Given the description of an element on the screen output the (x, y) to click on. 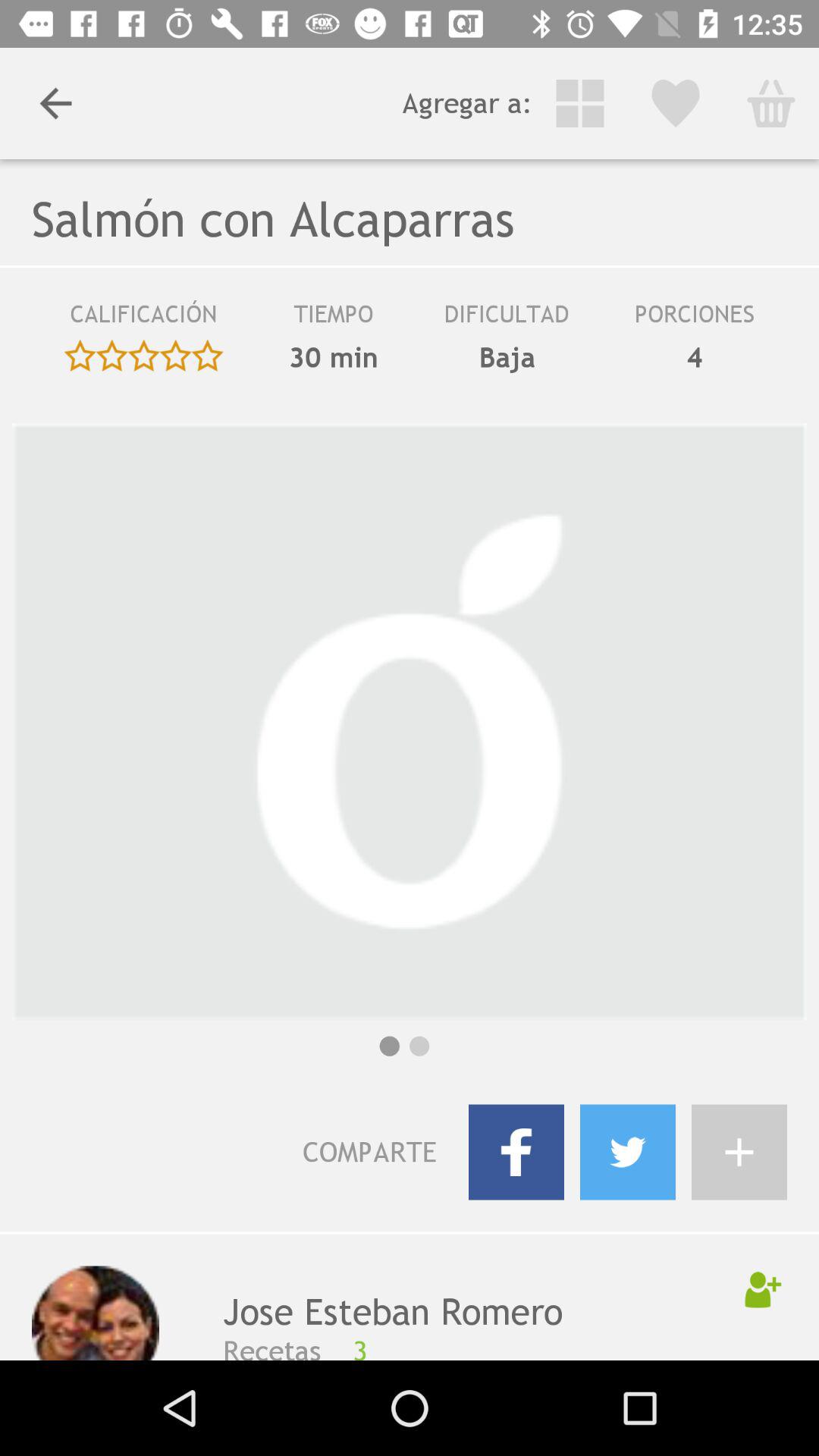
select icon next to dificultad item (333, 357)
